Given the description of an element on the screen output the (x, y) to click on. 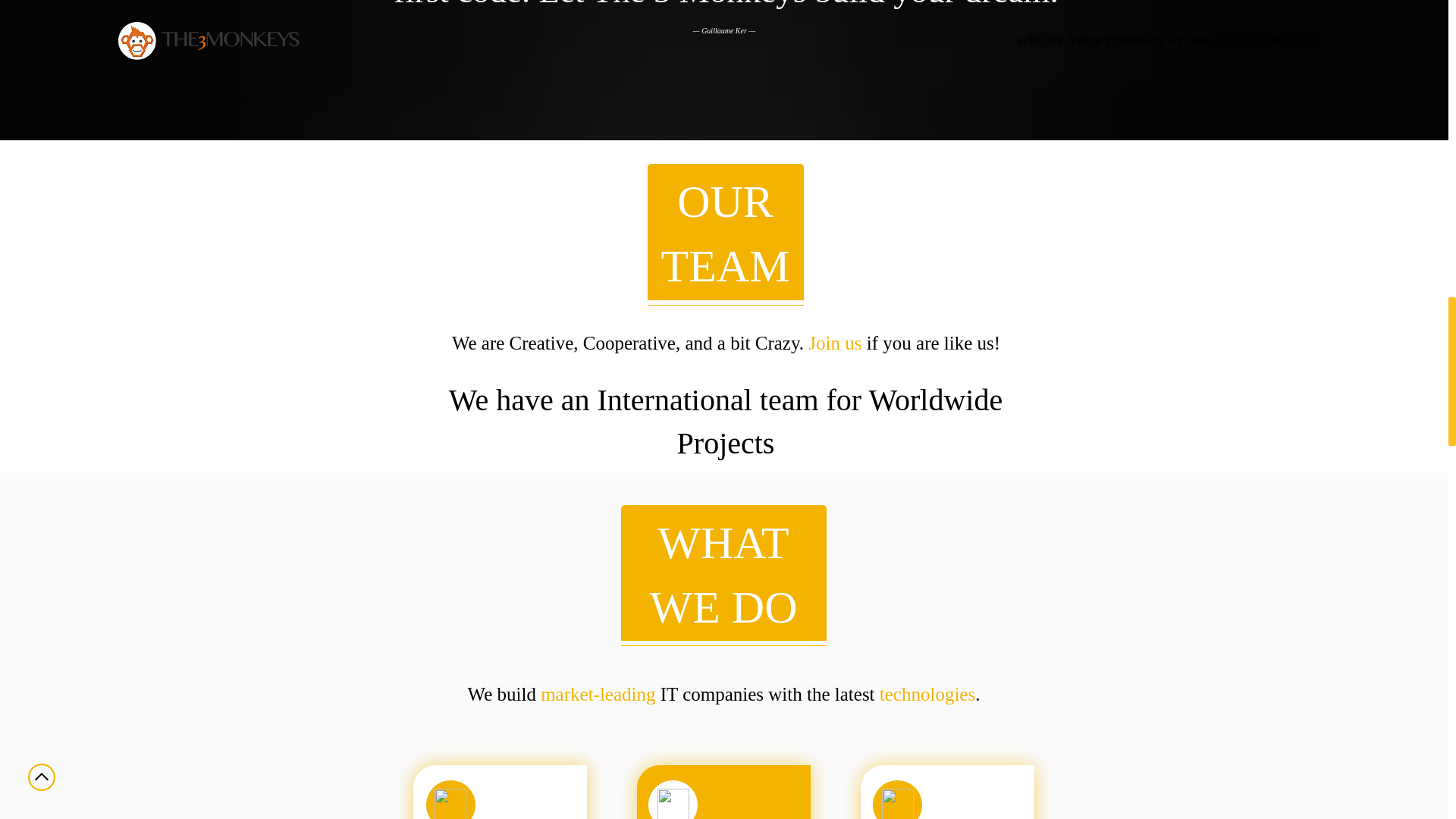
icons8-settings-64.png (673, 803)
icons8-rocket-64.png (898, 803)
icons8-box-64.png (449, 803)
